Given the description of an element on the screen output the (x, y) to click on. 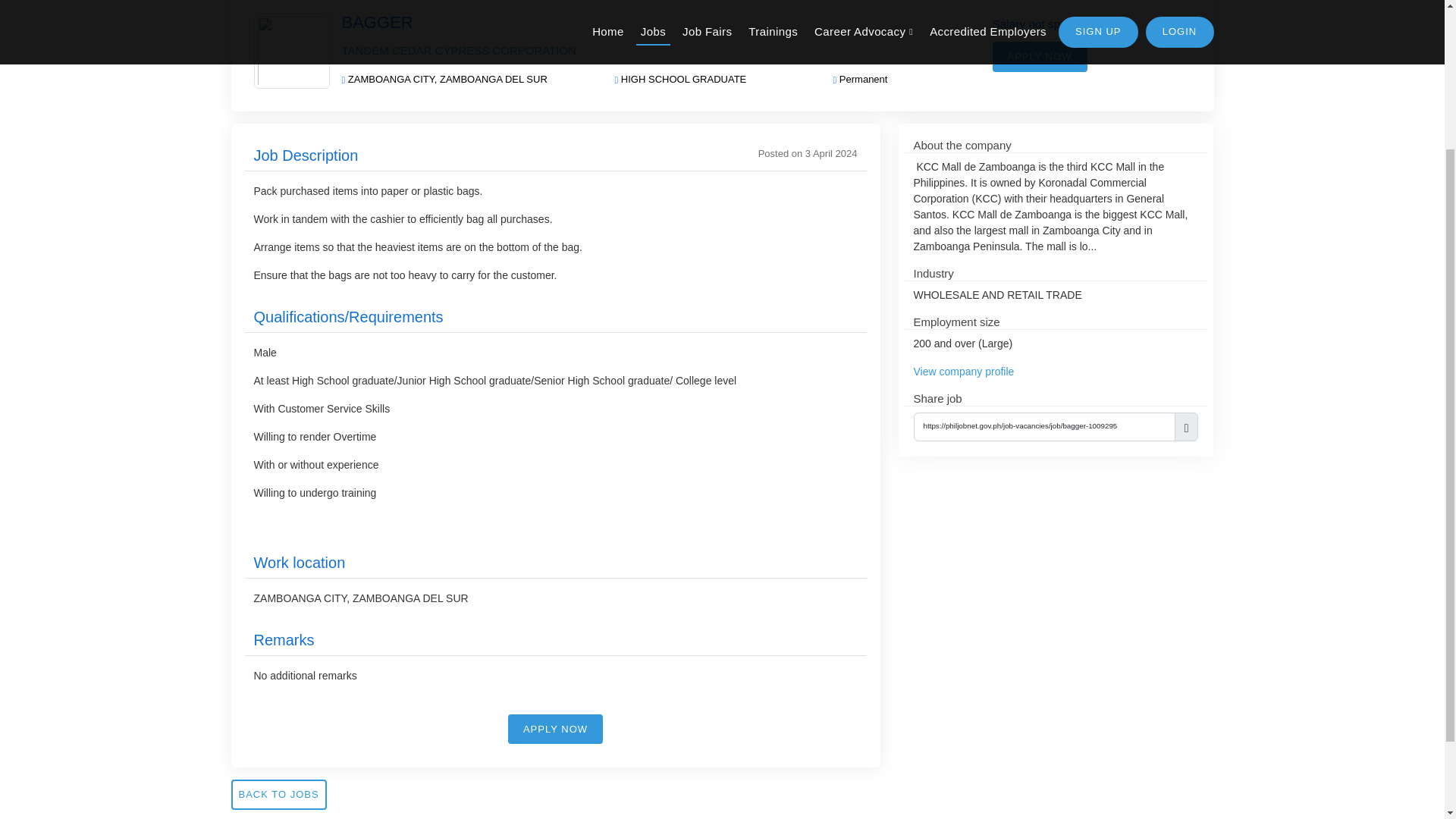
APPLY NOW (555, 729)
APPLY NOW (1038, 56)
View company profile (962, 371)
BACK TO JOBS (278, 794)
TANDEM CEDAR CYPRESS CORPORATION (457, 50)
